Given the description of an element on the screen output the (x, y) to click on. 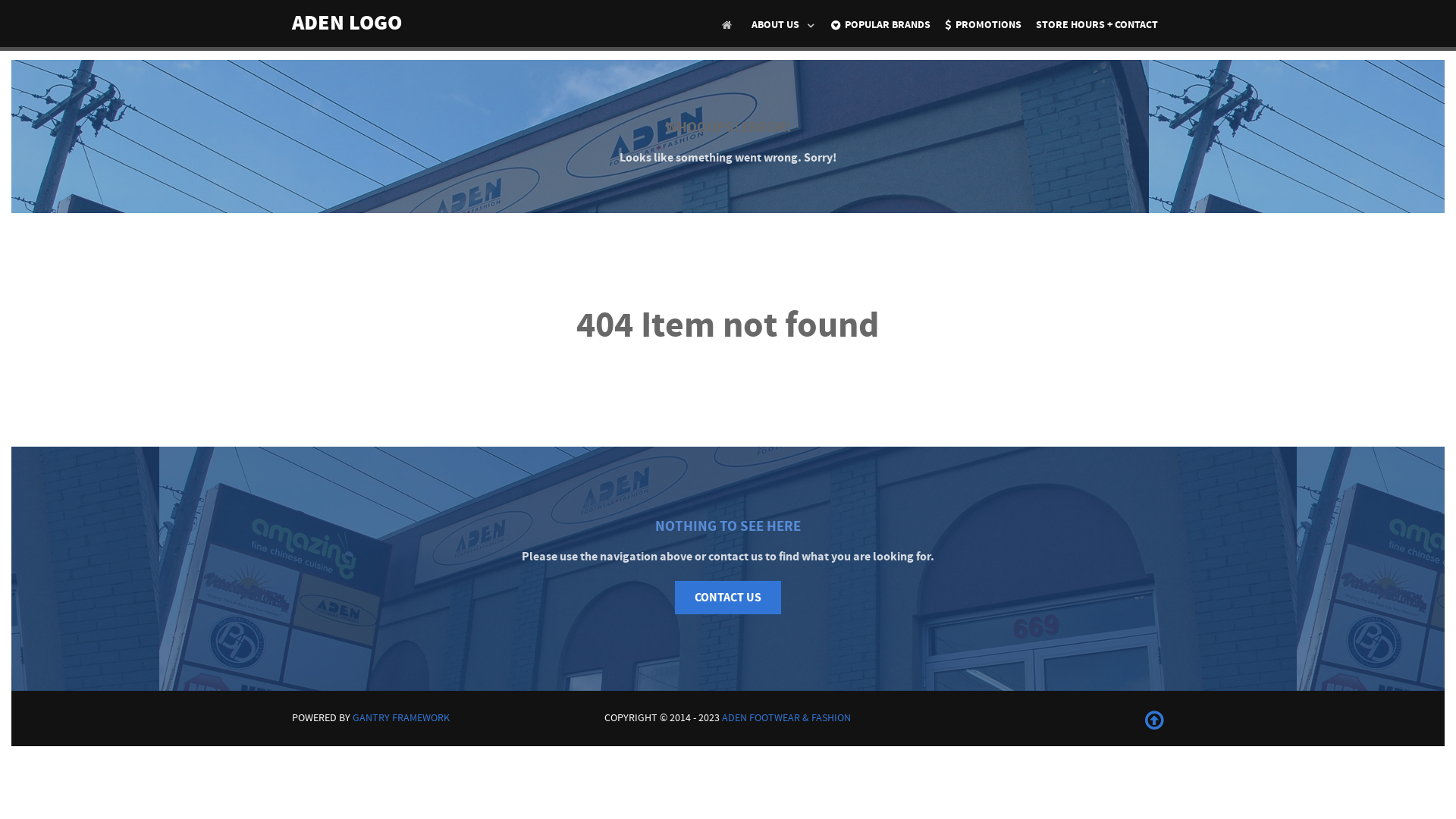
CONTACT US Element type: text (727, 597)
NOTHING TO SEE HERE Element type: text (727, 525)
ABOUT US Element type: text (783, 24)
ADEN FOOTWEAR & FASHION Element type: text (785, 717)
PROMOTIONS Element type: text (982, 24)
Home Element type: hover (728, 24)
GANTRY FRAMEWORK Element type: text (400, 717)
STORE HOURS + CONTACT Element type: text (1096, 24)
ADEN LOGO Element type: text (346, 22)
POPULAR BRANDS Element type: text (880, 24)
